Given the description of an element on the screen output the (x, y) to click on. 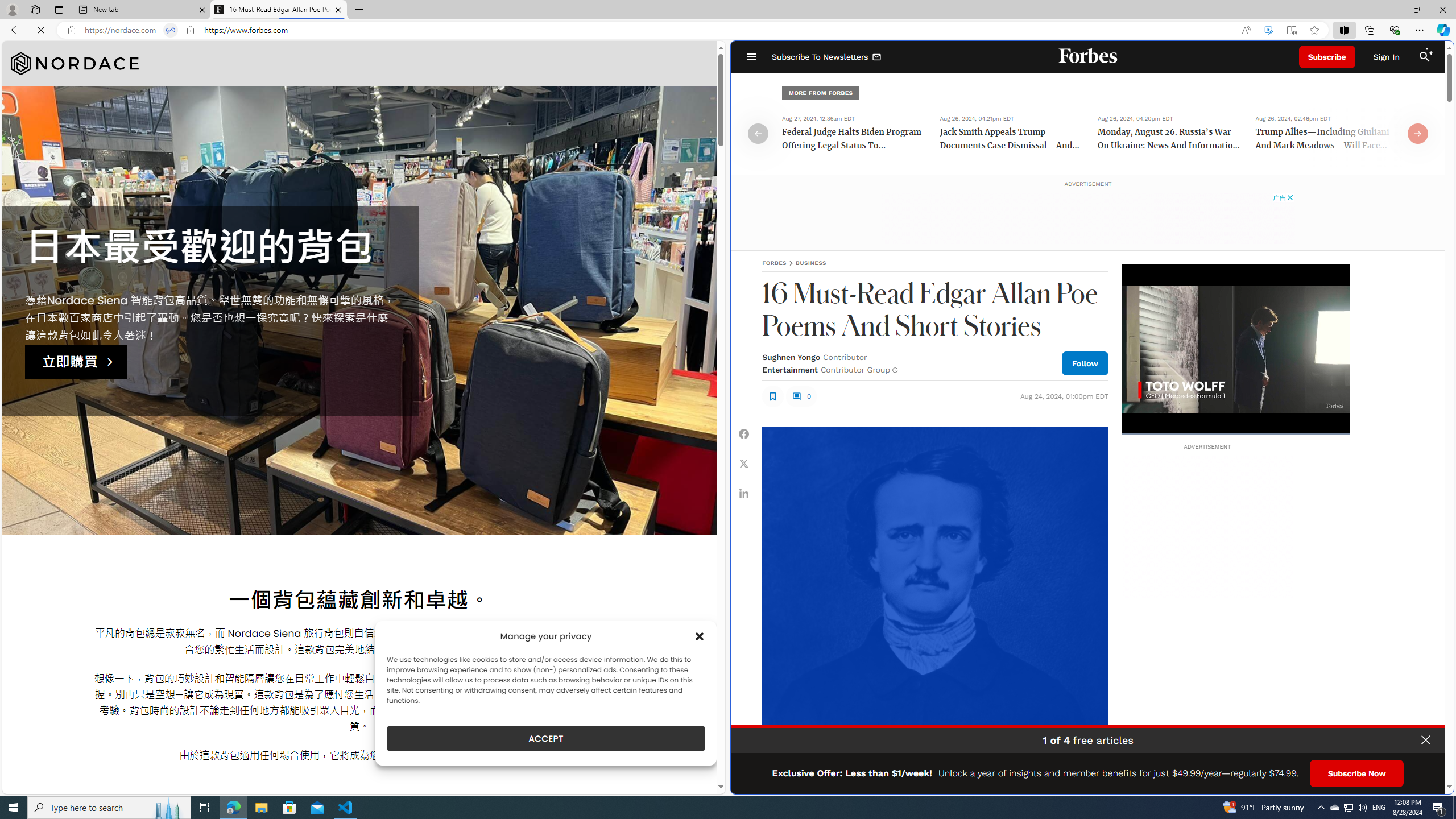
0 (801, 396)
Entertainment (789, 369)
ACCEPT (545, 738)
Class: close-button unbutton (1425, 740)
Open Navigation Menu (750, 56)
